Given the description of an element on the screen output the (x, y) to click on. 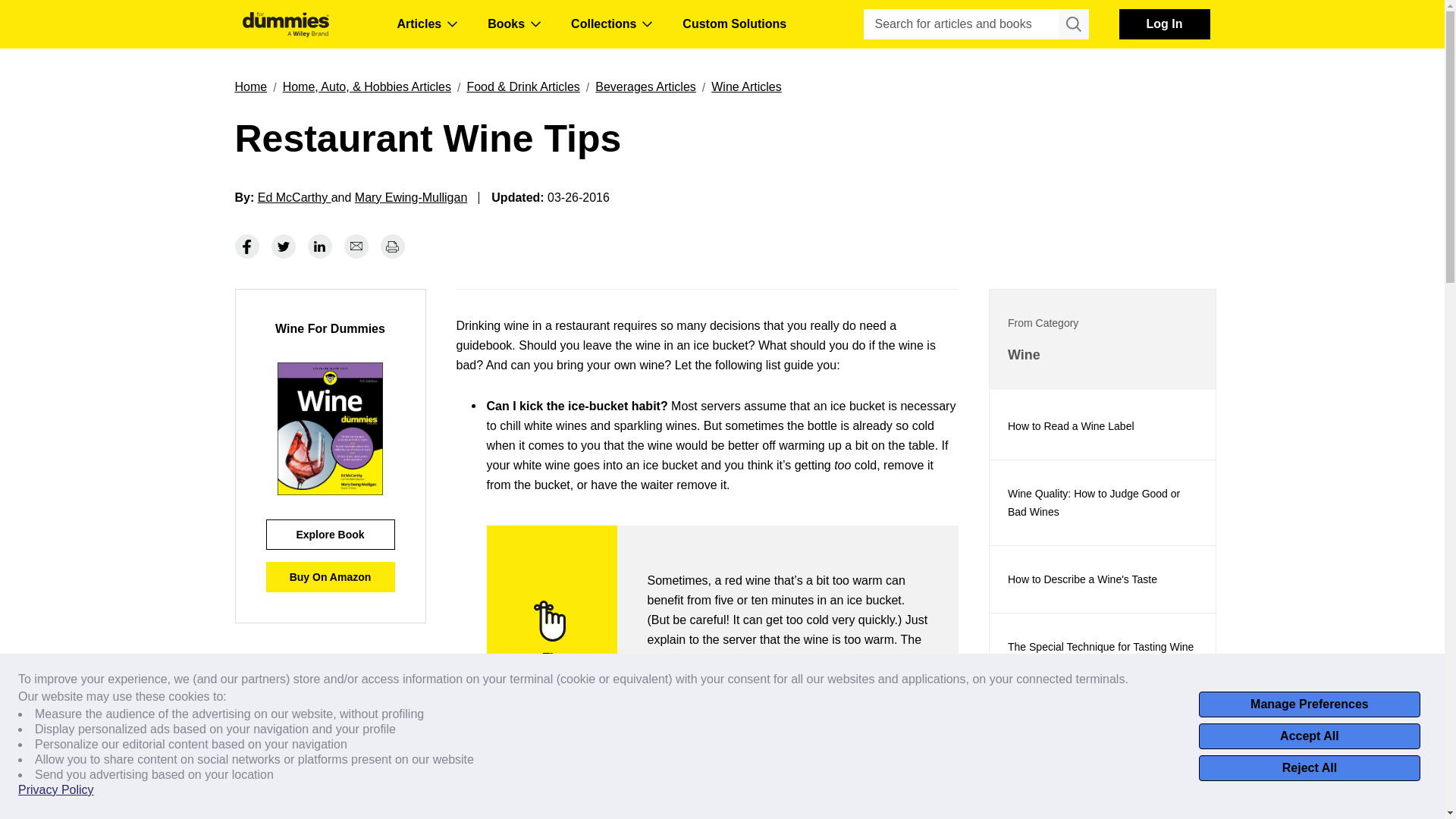
Manage Preferences (1309, 704)
Accept All (1309, 736)
Privacy Policy (55, 789)
Reject All (1309, 768)
Custom Solutions (734, 24)
